Given the description of an element on the screen output the (x, y) to click on. 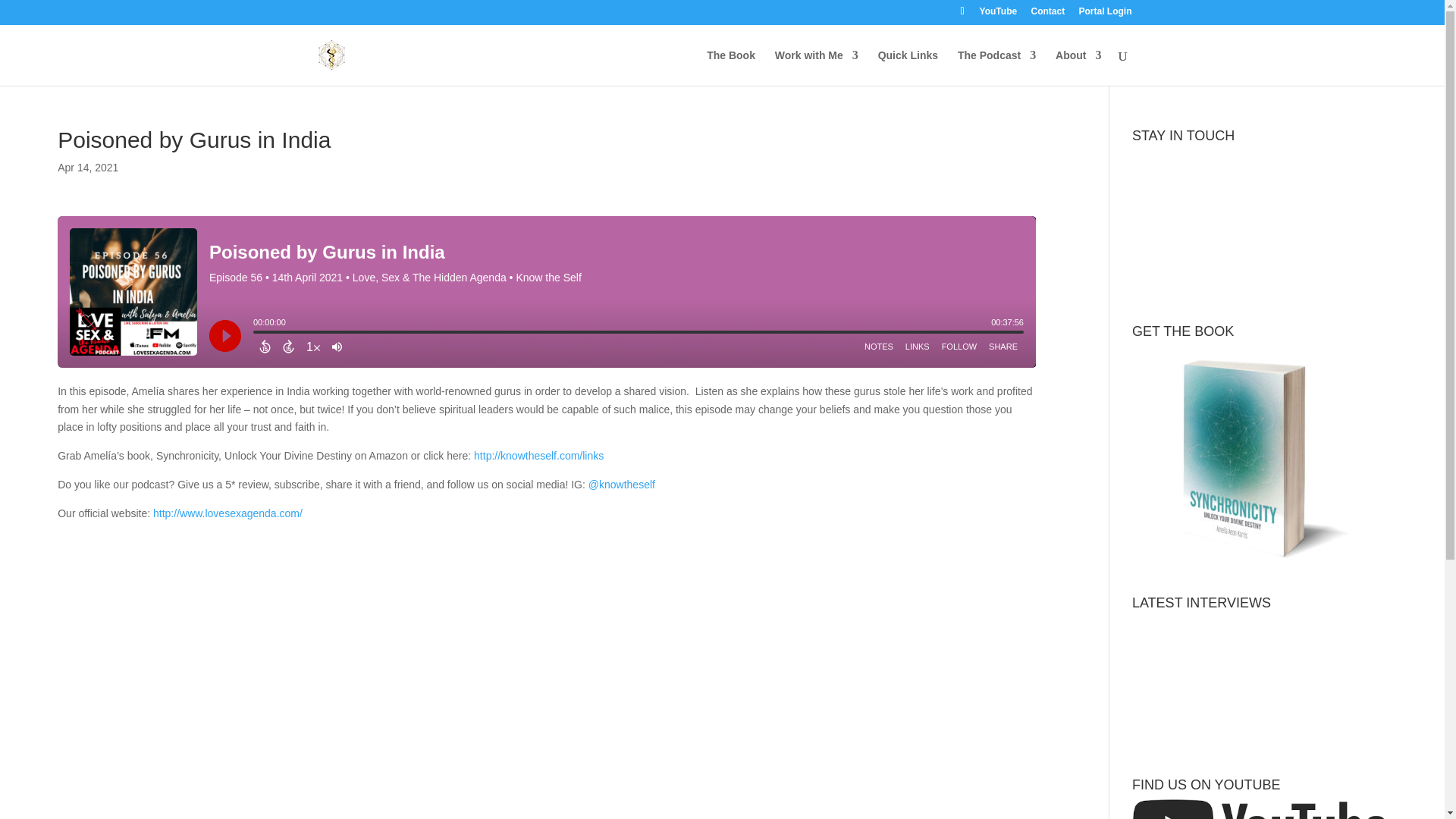
Work with Me (816, 67)
Quick Links (907, 67)
Portal Login (1104, 14)
YouTube (998, 14)
Contact (1047, 14)
The Book (730, 67)
The Podcast (996, 67)
About (1077, 67)
